Given the description of an element on the screen output the (x, y) to click on. 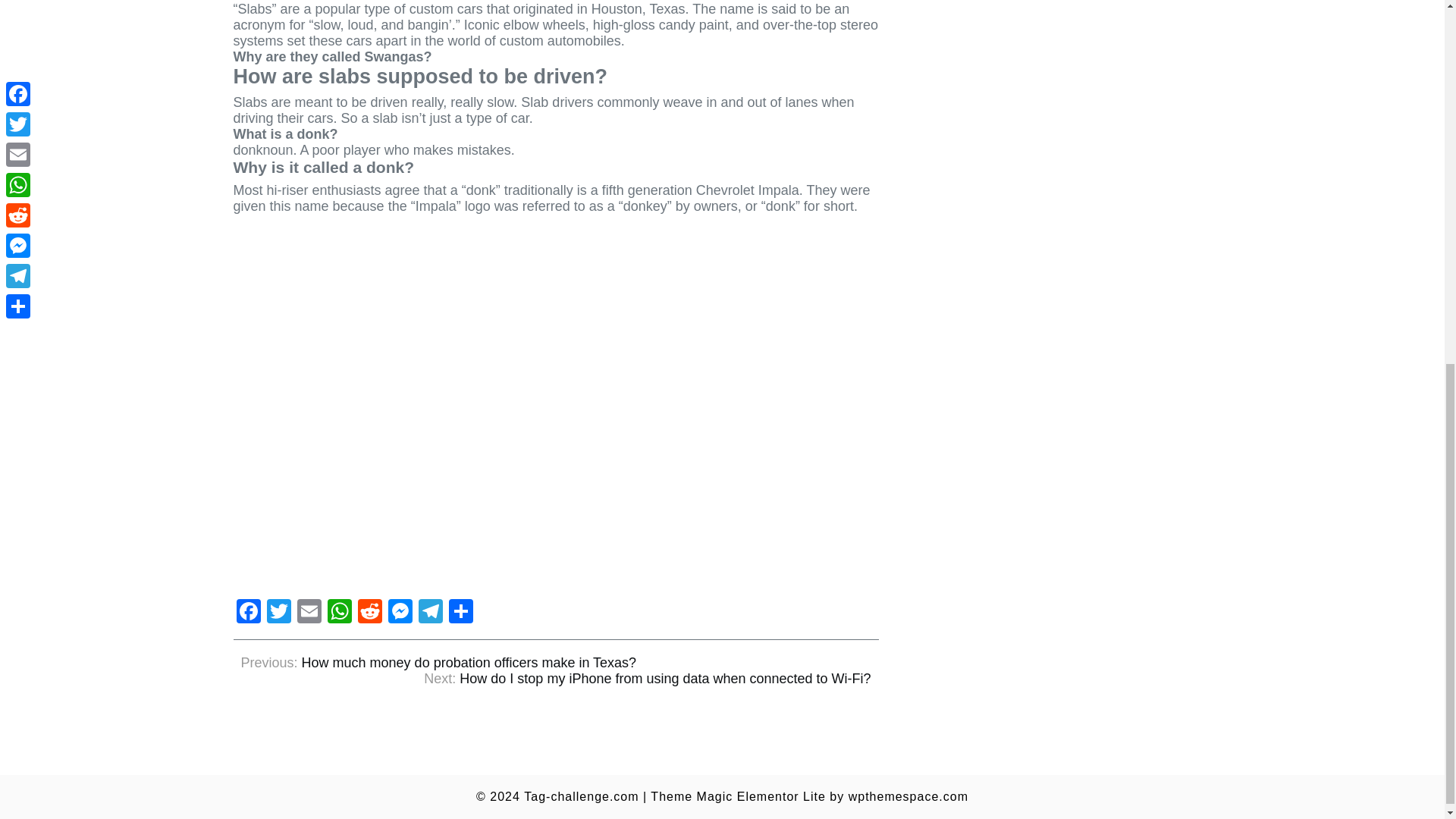
Messenger (399, 612)
Tag-challenge.com (581, 796)
Twitter (278, 612)
WhatsApp (339, 612)
WhatsApp (339, 612)
Reddit (370, 612)
Email (309, 612)
Email (309, 612)
Telegram (429, 612)
Facebook (247, 612)
Reddit (370, 612)
Telegram (429, 612)
Twitter (278, 612)
